Given the description of an element on the screen output the (x, y) to click on. 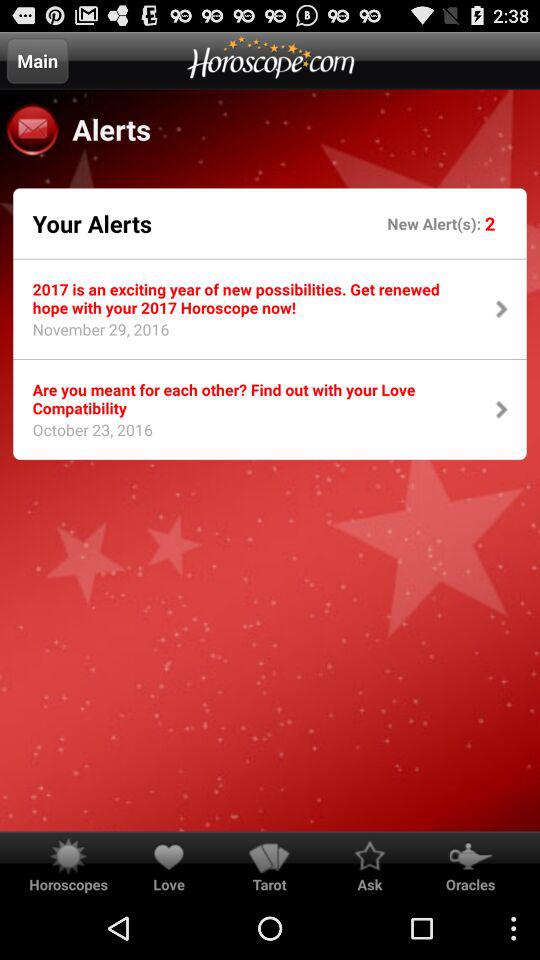
choose main icon (37, 60)
